Given the description of an element on the screen output the (x, y) to click on. 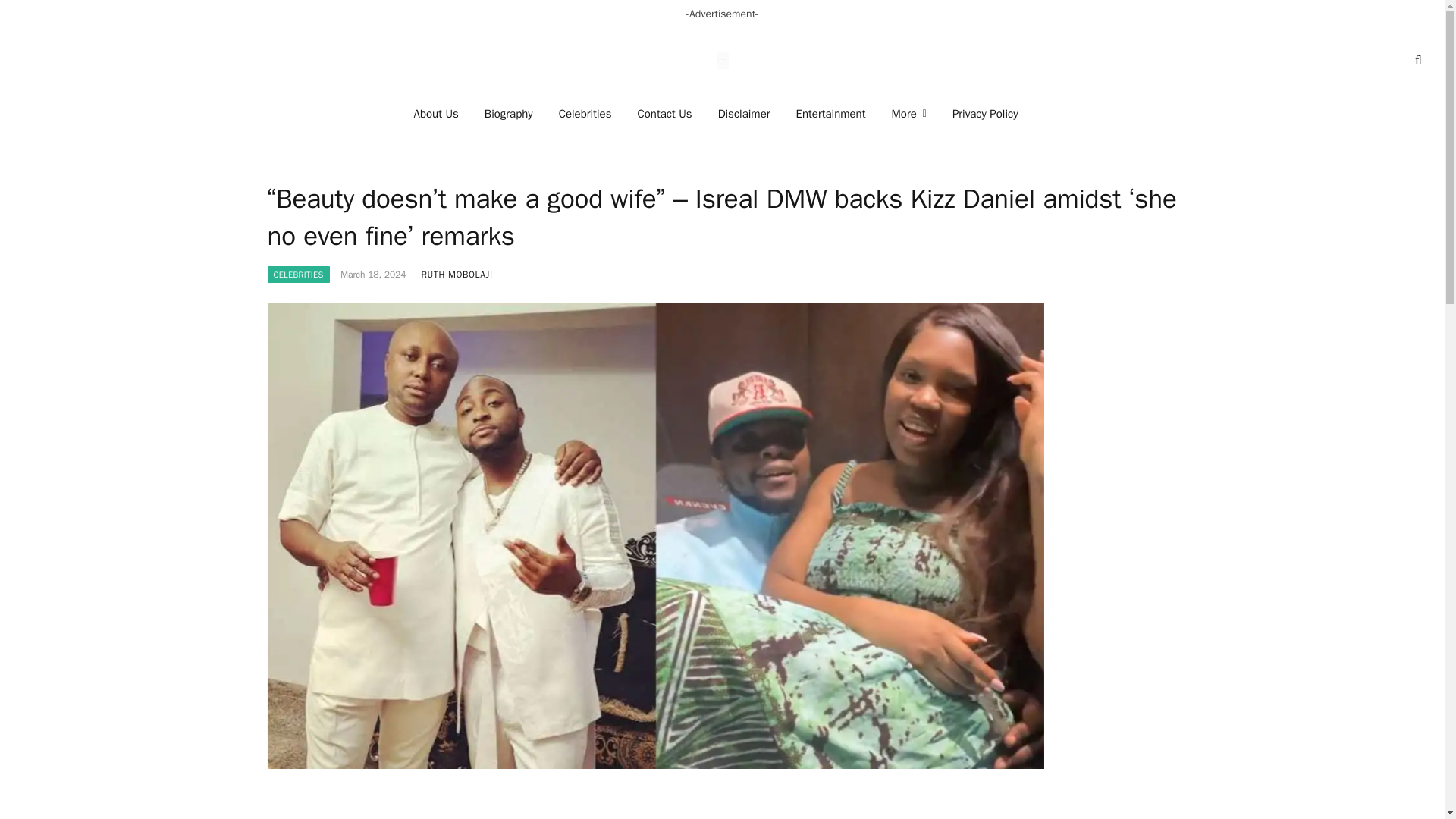
About Us (436, 113)
Entertainment (831, 113)
Biography (508, 113)
RUTH MOBOLAJI (457, 274)
Gossipinfo (722, 60)
Search (1417, 59)
Privacy Policy (984, 113)
More (908, 113)
Disclaimer (743, 113)
CELEBRITIES (297, 274)
Posts by Ruth Mobolaji (457, 274)
Contact Us (664, 113)
Celebrities (585, 113)
